Given the description of an element on the screen output the (x, y) to click on. 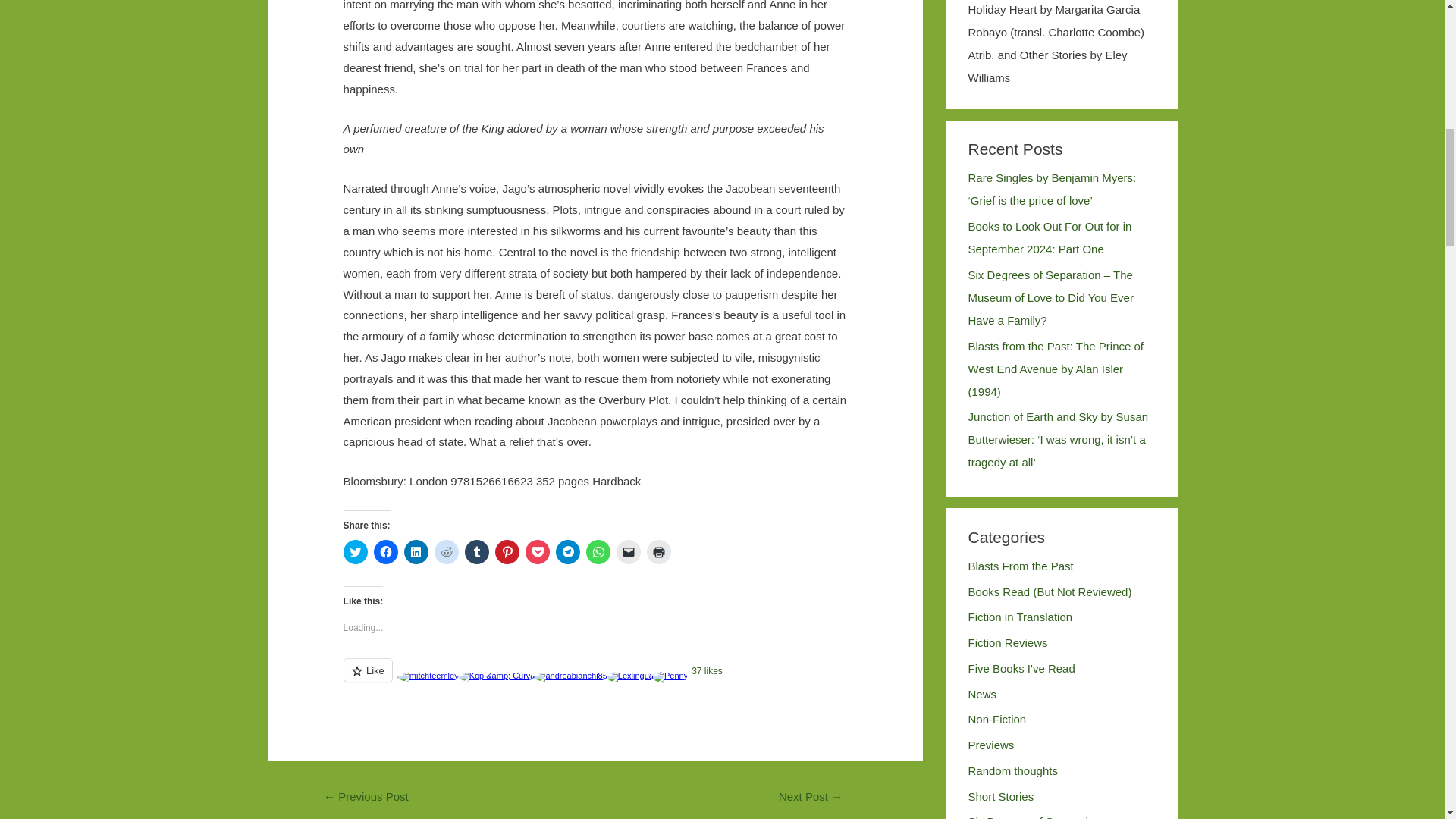
Click to share on Pocket (537, 551)
Click to share on LinkedIn (416, 551)
Click to share on Twitter (355, 551)
Click to share on Facebook (385, 551)
Click to share on Reddit (445, 551)
Click to share on Tumblr (476, 551)
Click to share on Pinterest (507, 551)
